Given the description of an element on the screen output the (x, y) to click on. 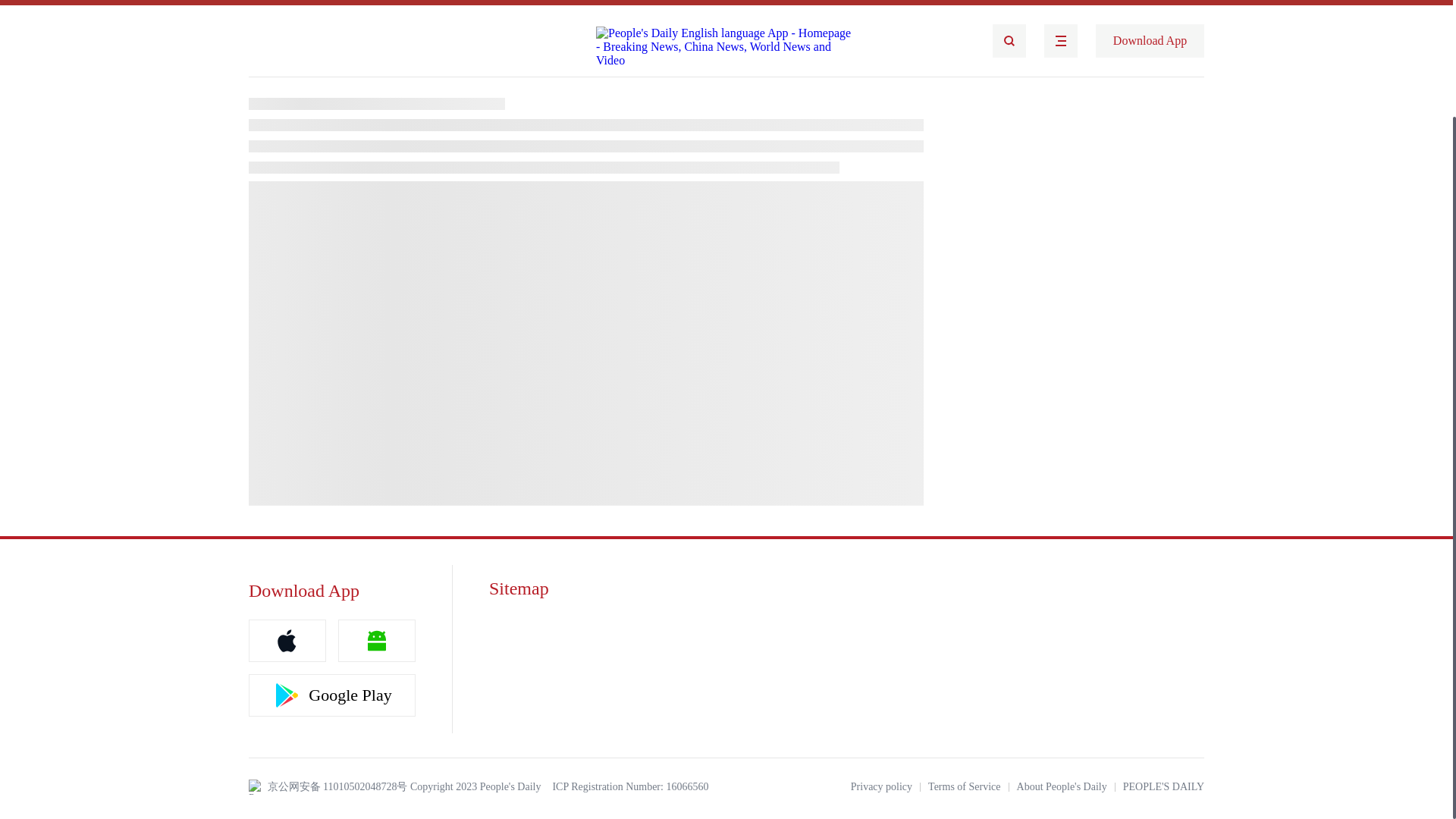
ICP Registration Number: 16066560 (629, 786)
PEOPLE'S DAILY (1163, 787)
About People's Daily (1061, 787)
Privacy policy (881, 787)
Terms of Service (964, 787)
Google Play (331, 695)
